Given the description of an element on the screen output the (x, y) to click on. 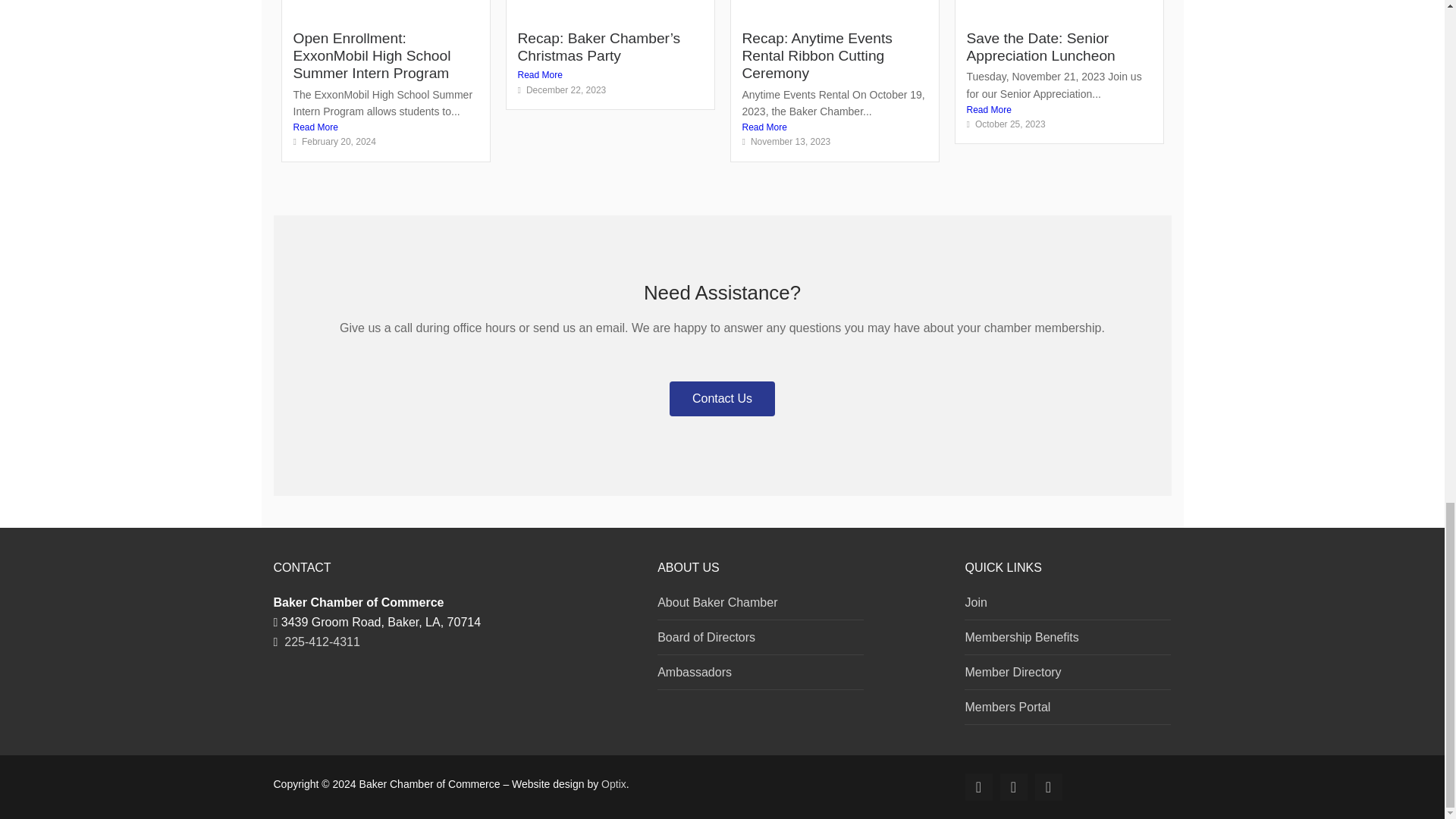
Save the Date: Senior Appreciation Luncheon (1040, 46)
Facebook (978, 786)
Instagram (1013, 786)
Recap: Anytime Events Rental Ribbon Cutting Ceremony (816, 55)
